Given the description of an element on the screen output the (x, y) to click on. 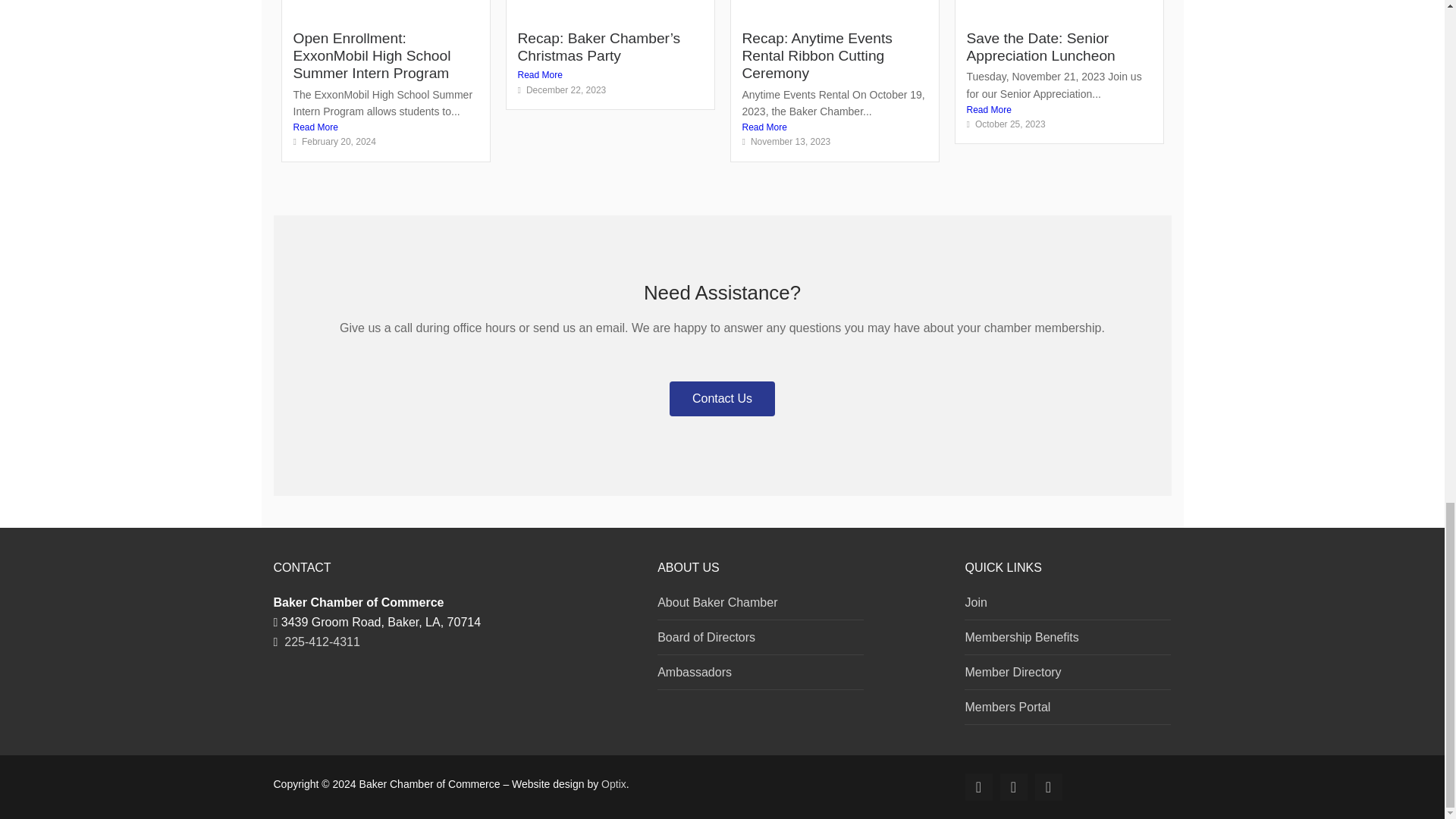
Save the Date: Senior Appreciation Luncheon (1040, 46)
Facebook (978, 786)
Instagram (1013, 786)
Recap: Anytime Events Rental Ribbon Cutting Ceremony (816, 55)
